Given the description of an element on the screen output the (x, y) to click on. 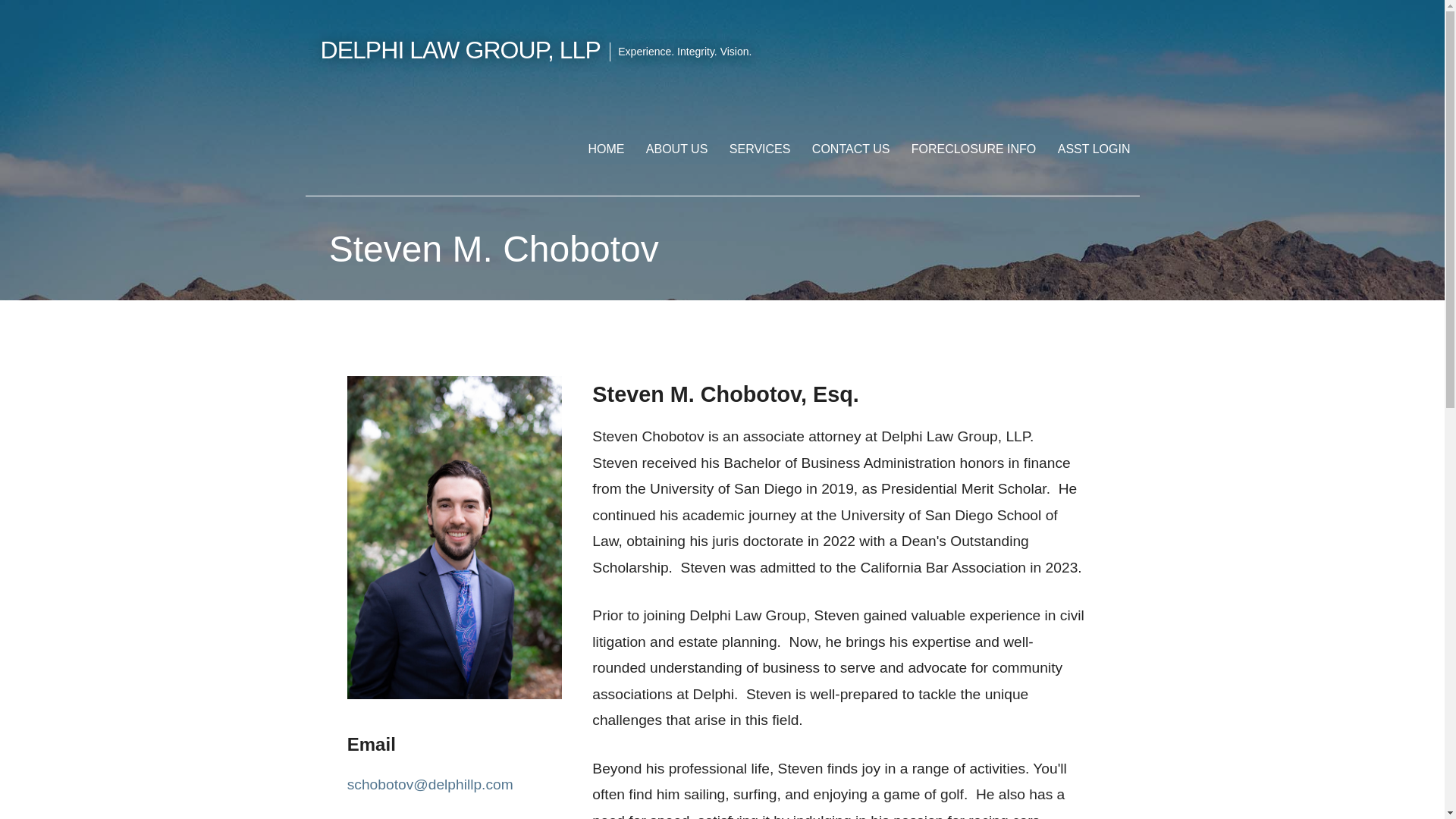
DELPHI LAW GROUP, LLP (459, 49)
ASST LOGIN (1094, 148)
CONTACT US (851, 148)
FORECLOSURE INFO (973, 148)
